Given the description of an element on the screen output the (x, y) to click on. 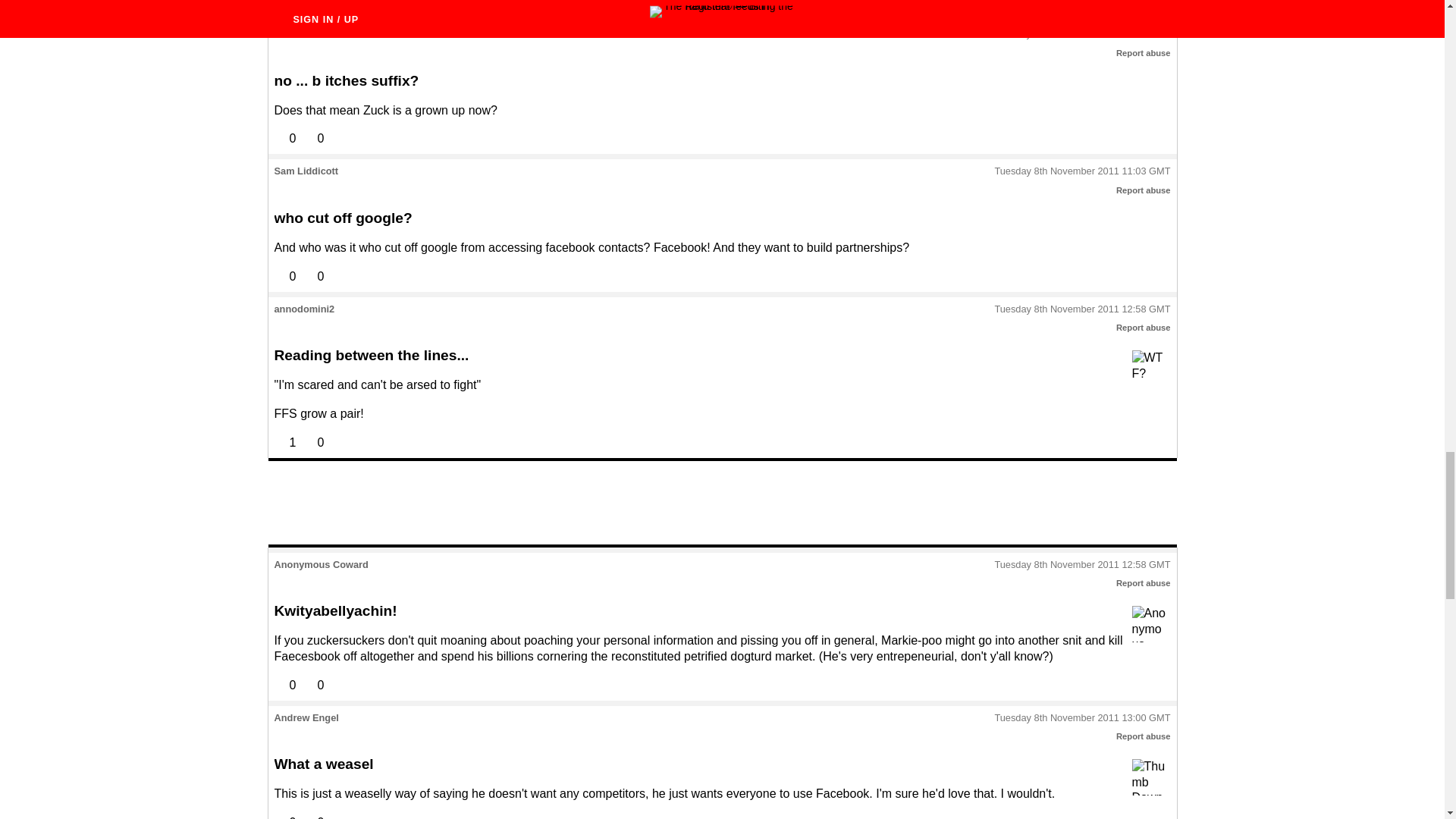
Report abuse (1143, 327)
Report abuse (1143, 583)
Report abuse (1143, 189)
Report abuse (1143, 736)
Report abuse (1143, 52)
